Given the description of an element on the screen output the (x, y) to click on. 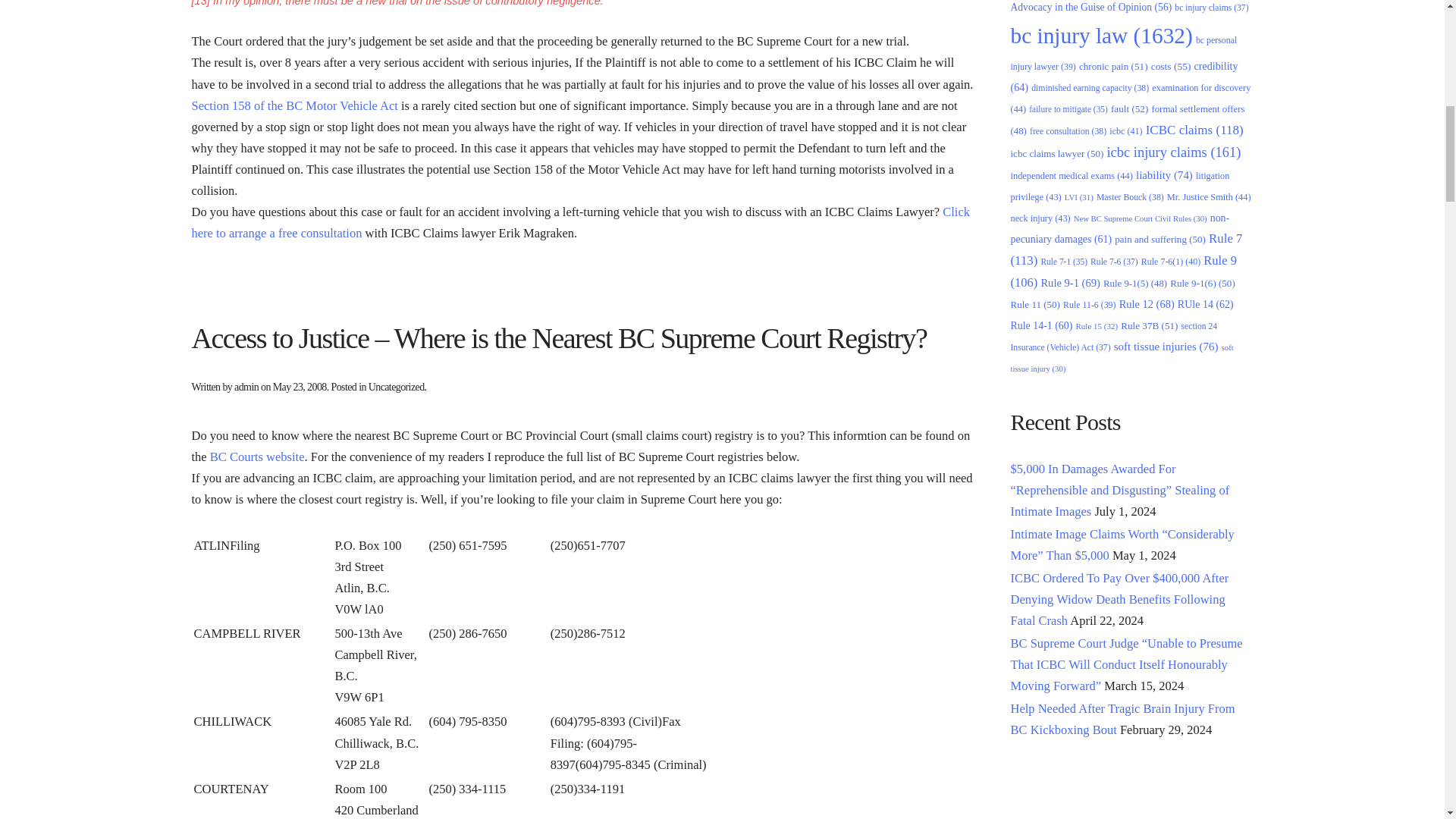
Section 158 of the BC Motor Vehicle Act (295, 105)
Uncategorized (396, 387)
BC Courts website (256, 456)
admin (246, 387)
Click here to arrange a free consultation (579, 222)
